Given the description of an element on the screen output the (x, y) to click on. 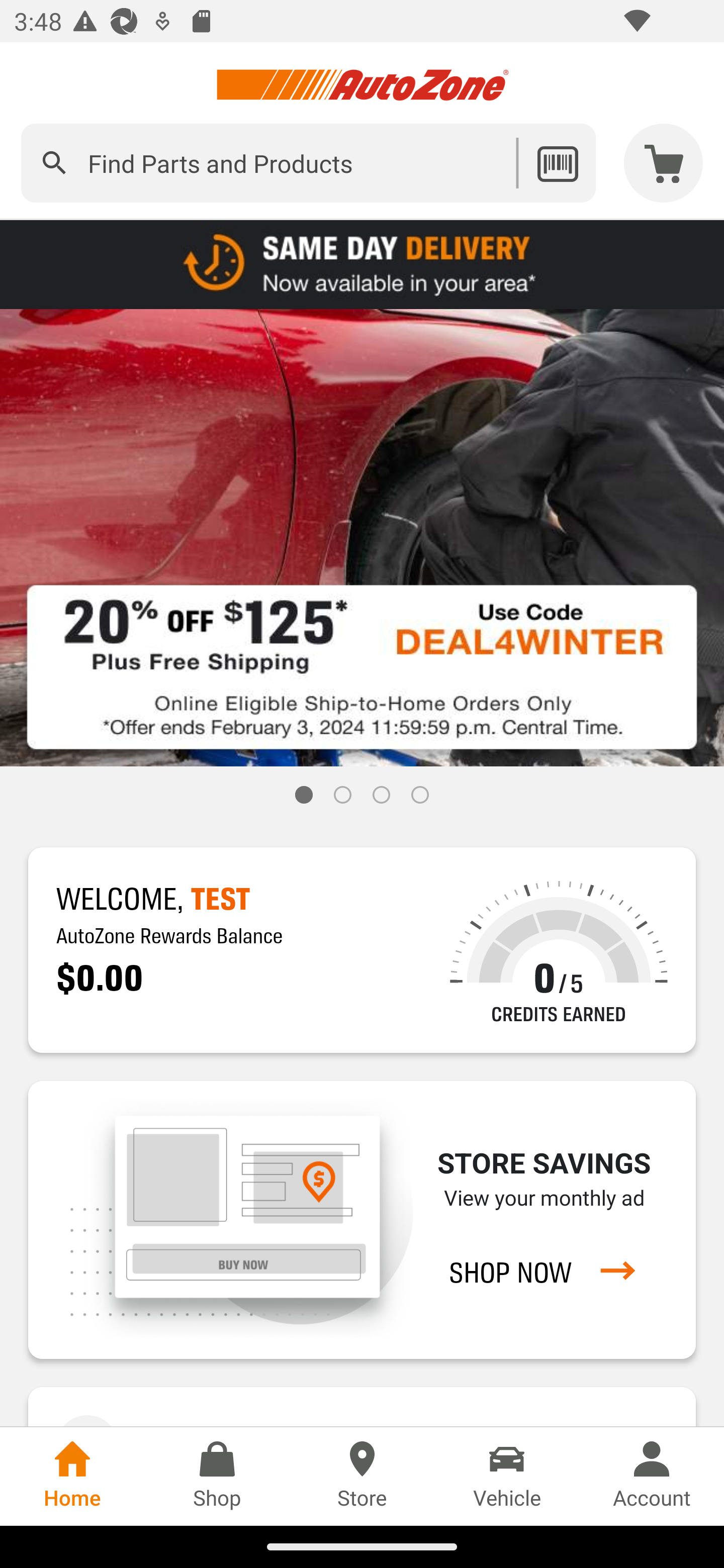
 scan-product-to-search  (557, 162)
 (54, 163)
Cart, no items  (663, 162)
Same Day Delivery - now available in your area* (362, 262)
Home (72, 1475)
Shop (216, 1475)
Store (361, 1475)
Vehicle (506, 1475)
Account (651, 1475)
